Given the description of an element on the screen output the (x, y) to click on. 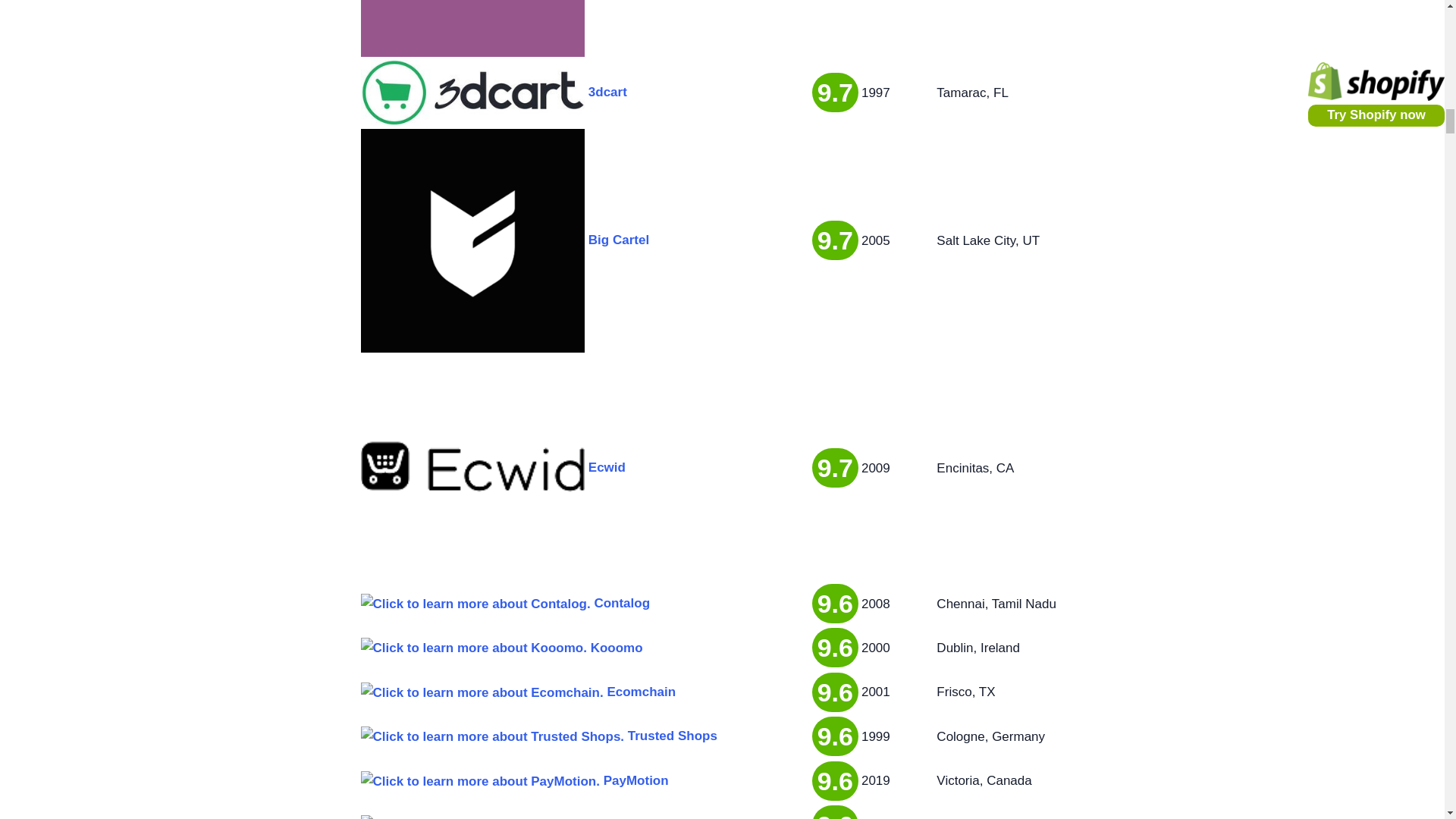
Click to learn more about Ecwid (473, 467)
Click to learn more about Ecomchain (482, 692)
Click to learn more about 3dcart (473, 92)
Click to learn more about PayKickstart (486, 816)
Click to learn more about Trusted Shops (492, 736)
Click to learn more about WooCommerce (473, 28)
Click to learn more about Big Cartel (473, 240)
Click to learn more about Kooomo (473, 648)
Click to learn more about Contalog (476, 603)
Click to learn more about PayMotion (480, 781)
